Given the description of an element on the screen output the (x, y) to click on. 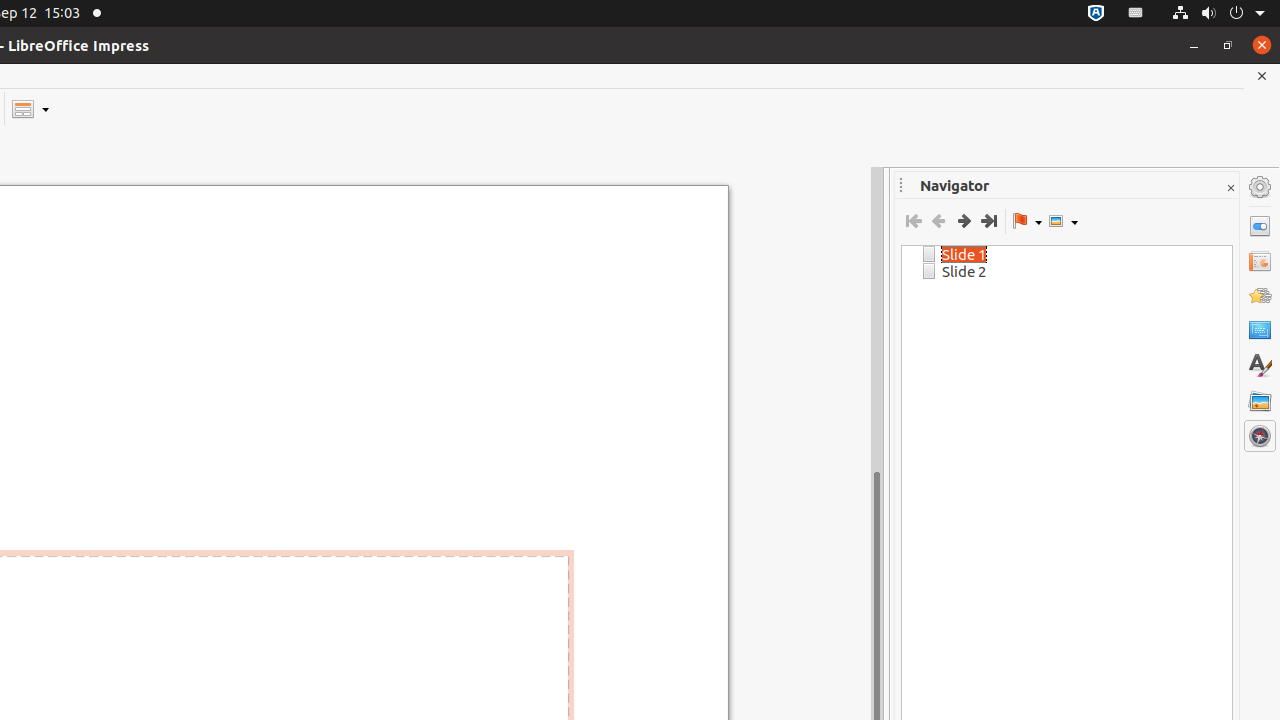
Slide Transition Element type: radio-button (1260, 261)
Animation Element type: radio-button (1260, 296)
First Slide Element type: push-button (913, 221)
Next Slide Element type: push-button (963, 221)
Show Shapes Element type: push-button (1063, 221)
